Given the description of an element on the screen output the (x, y) to click on. 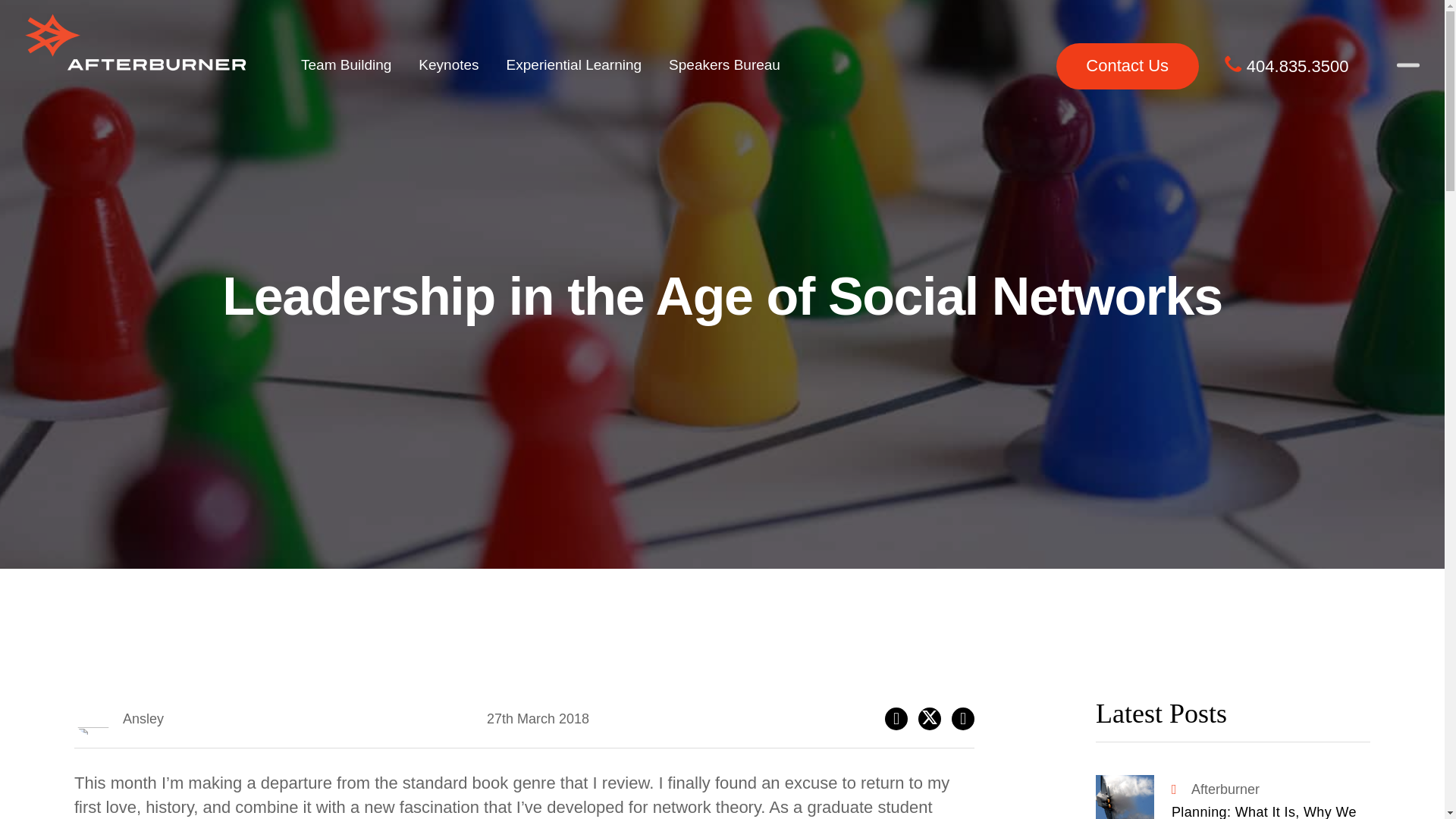
LinkedIn (963, 718)
Facebook (896, 718)
404.835.3500 (1286, 66)
Twitter (929, 718)
Contact Us (1127, 66)
Speakers Bureau (724, 64)
Experiential Learning (574, 64)
Team Building (345, 64)
Keynotes (448, 64)
